Given the description of an element on the screen output the (x, y) to click on. 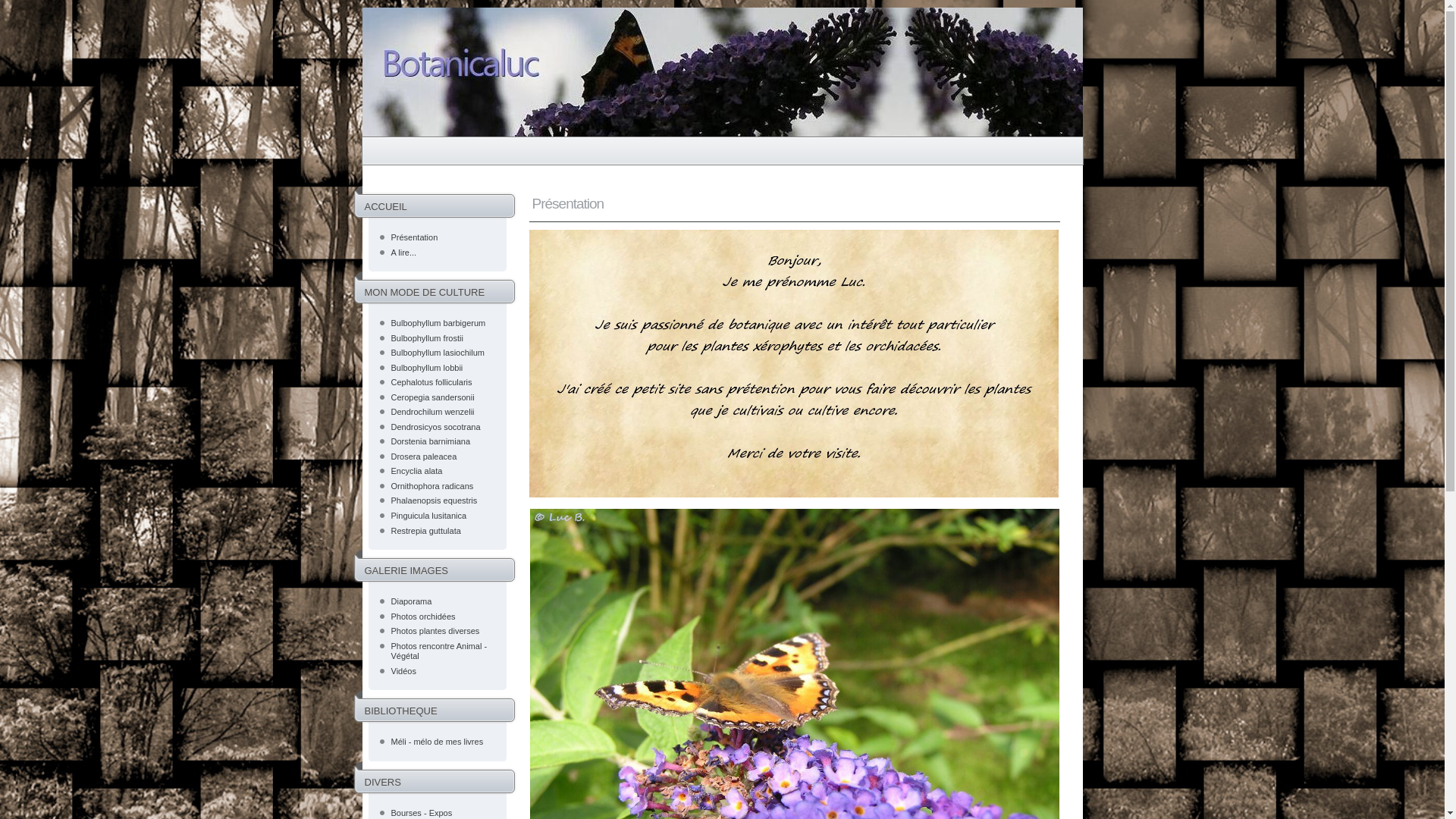
Bulbophyllum frostii Element type: text (427, 337)
Encyclia alata Element type: text (416, 470)
Bulbophyllum barbigerum Element type: text (438, 322)
Pinguicula lusitanica Element type: text (429, 515)
Dendrosicyos socotrana Element type: text (435, 426)
Bulbophyllum lobbii Element type: text (427, 367)
Bourses - Expos Element type: text (421, 812)
A lire... Element type: text (404, 252)
Photos plantes diverses Element type: text (435, 630)
Diaporama Element type: text (411, 600)
Drosera paleacea Element type: text (424, 456)
Dorstenia barnimiana Element type: text (430, 440)
Cephalotus follicularis Element type: text (431, 381)
Dendrochilum wenzelii Element type: text (432, 411)
Ceropegia sandersonii Element type: text (432, 396)
Bulbophyllum lasiochilum Element type: text (438, 352)
Ornithophora radicans Element type: text (432, 485)
Restrepia guttulata Element type: text (426, 530)
Phalaenopsis equestris Element type: text (434, 500)
